Given the description of an element on the screen output the (x, y) to click on. 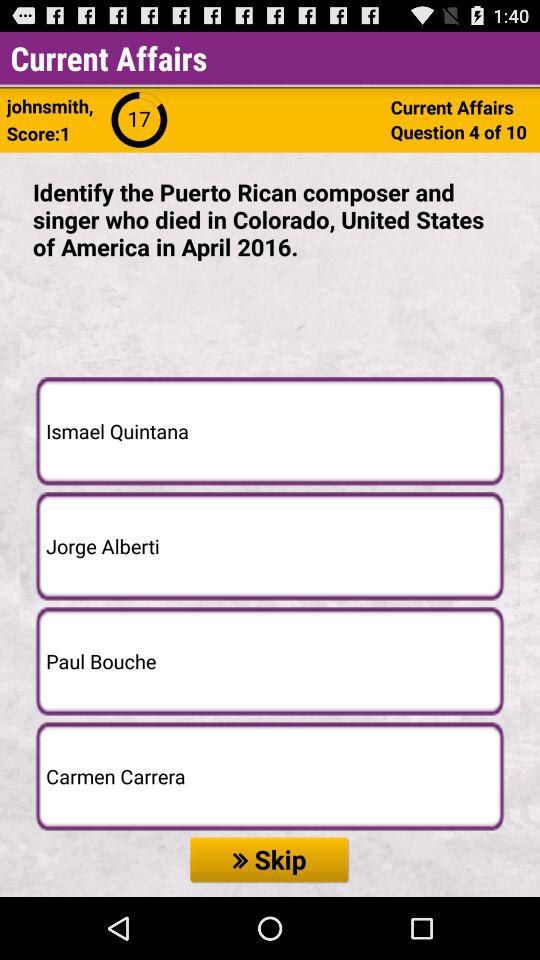
click paul bouche (270, 661)
